Given the description of an element on the screen output the (x, y) to click on. 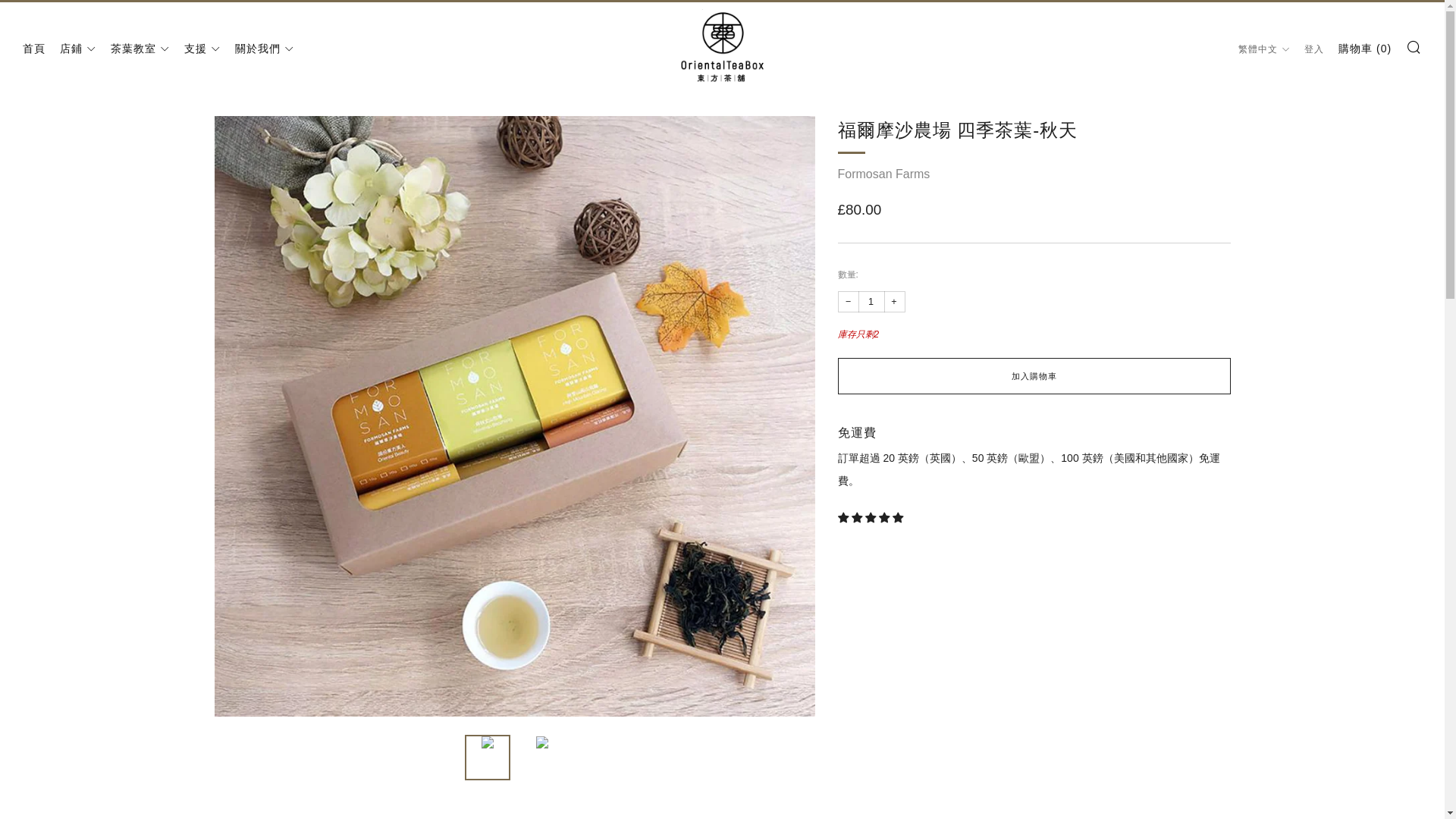
1 (872, 301)
Formosan Farms (883, 173)
